Given the description of an element on the screen output the (x, y) to click on. 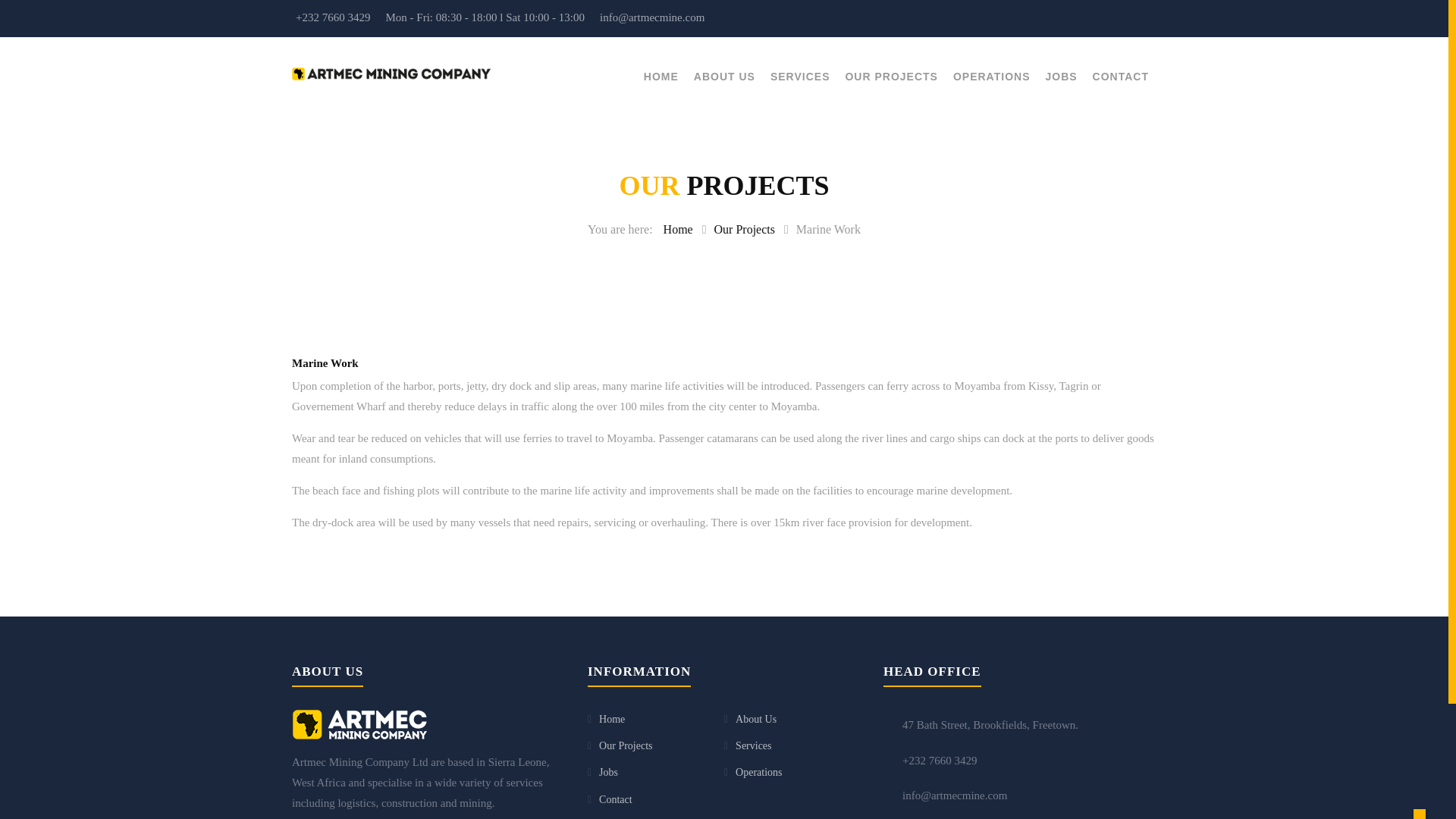
Contact (614, 799)
Our Projects (744, 228)
Our Projects (625, 745)
Home (678, 228)
OPERATIONS (991, 76)
Go to top (1419, 814)
Services (753, 745)
About Us (755, 718)
Jobs (607, 772)
Go to top (1419, 814)
Home (611, 718)
OUR PROJECTS (890, 76)
Operations (758, 772)
